Given the description of an element on the screen output the (x, y) to click on. 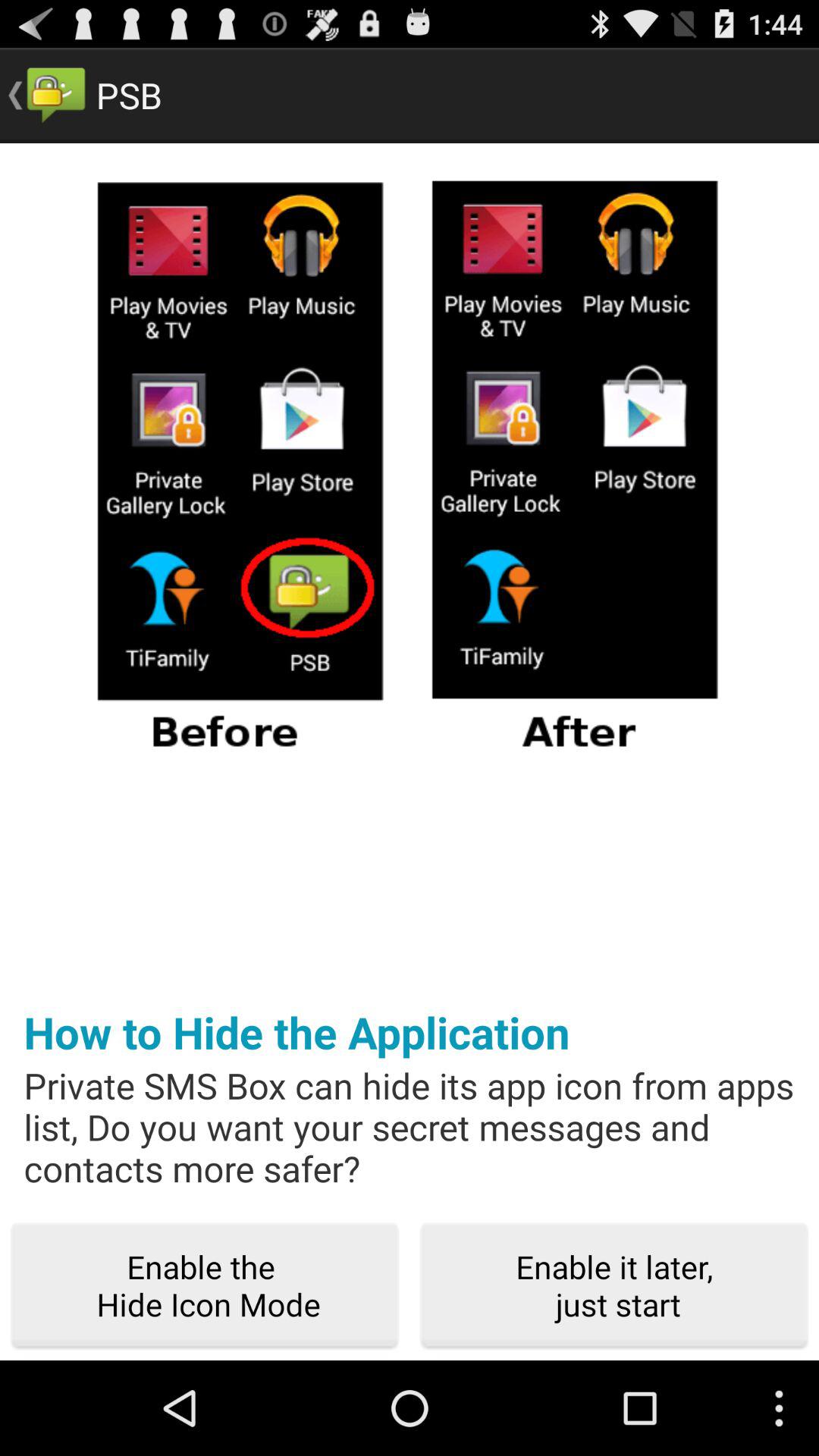
select button next to the enable the hide button (613, 1286)
